Given the description of an element on the screen output the (x, y) to click on. 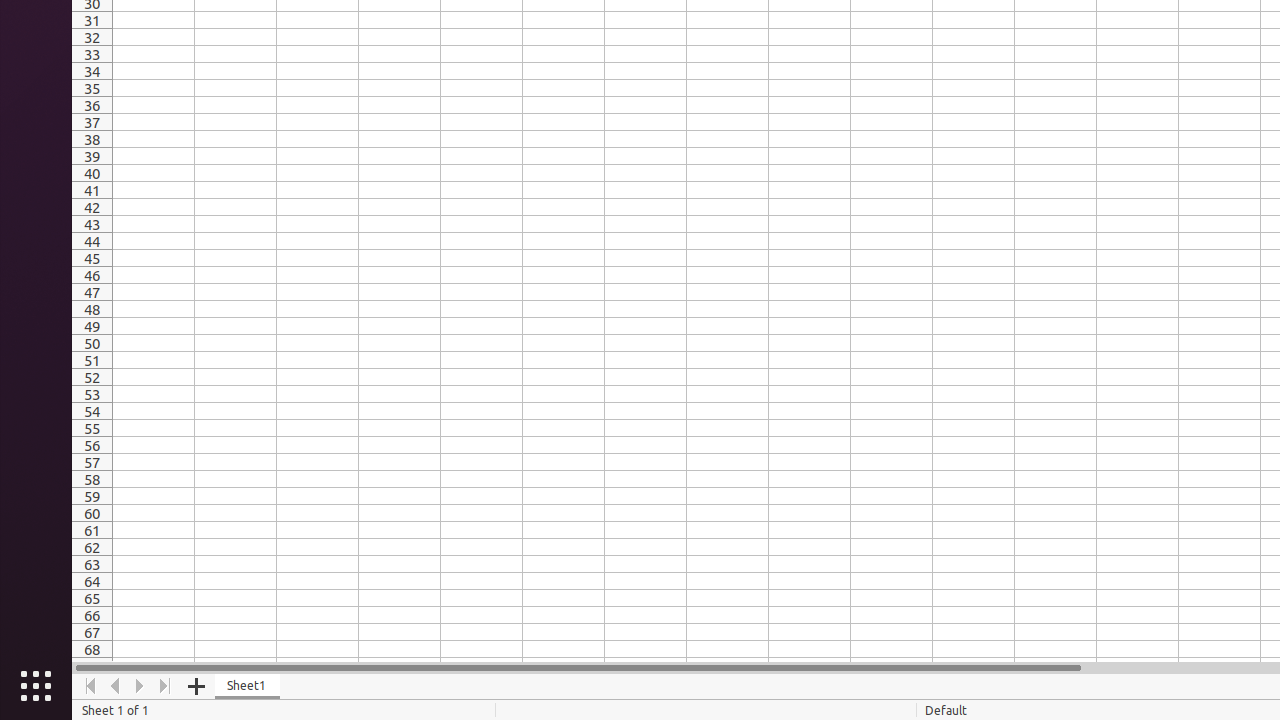
Move Left Element type: push-button (115, 686)
Move To Home Element type: push-button (90, 686)
Show Applications Element type: toggle-button (36, 686)
Move Right Element type: push-button (140, 686)
Move To End Element type: push-button (165, 686)
